Given the description of an element on the screen output the (x, y) to click on. 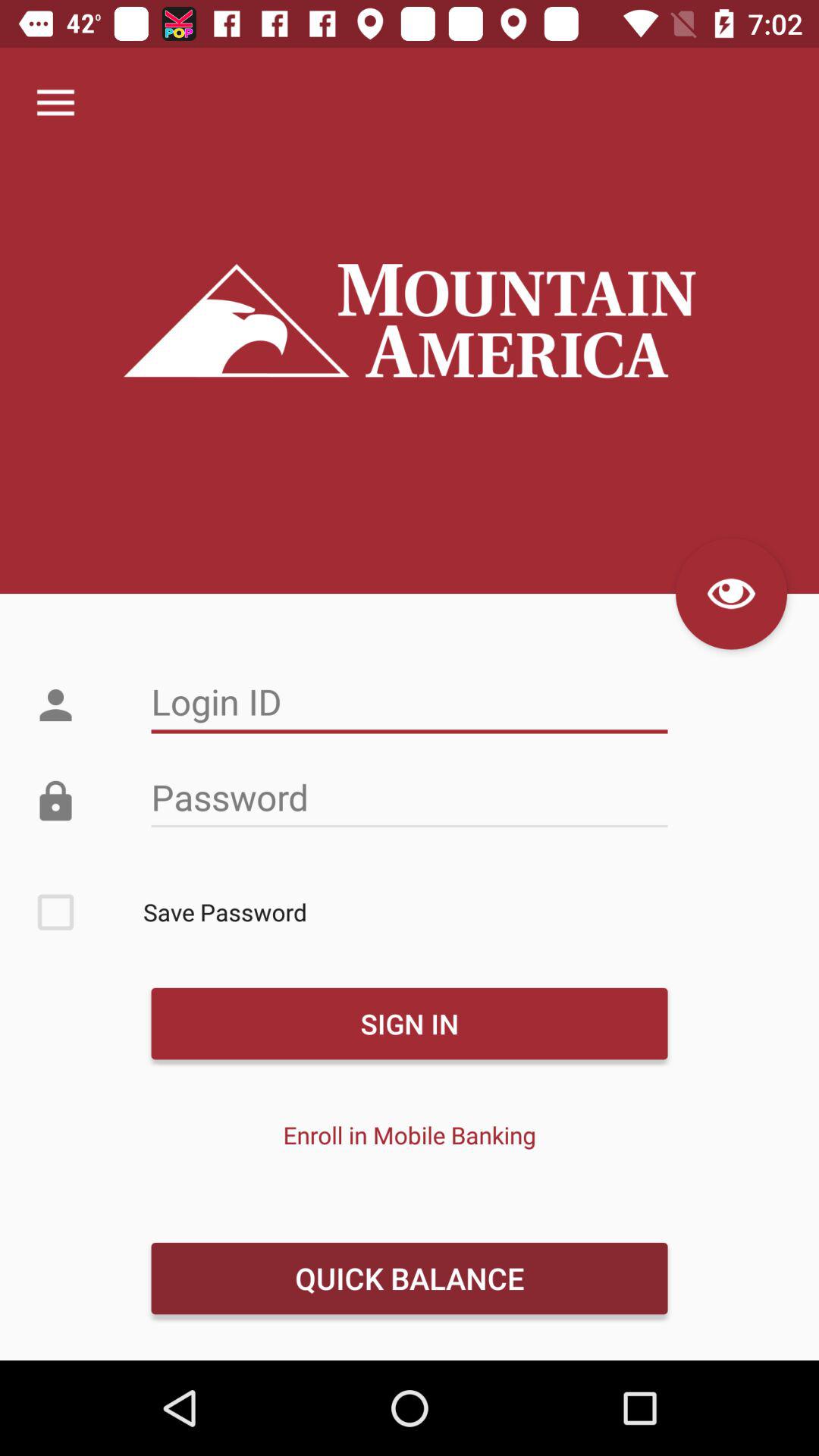
jump until enroll in mobile item (409, 1134)
